Given the description of an element on the screen output the (x, y) to click on. 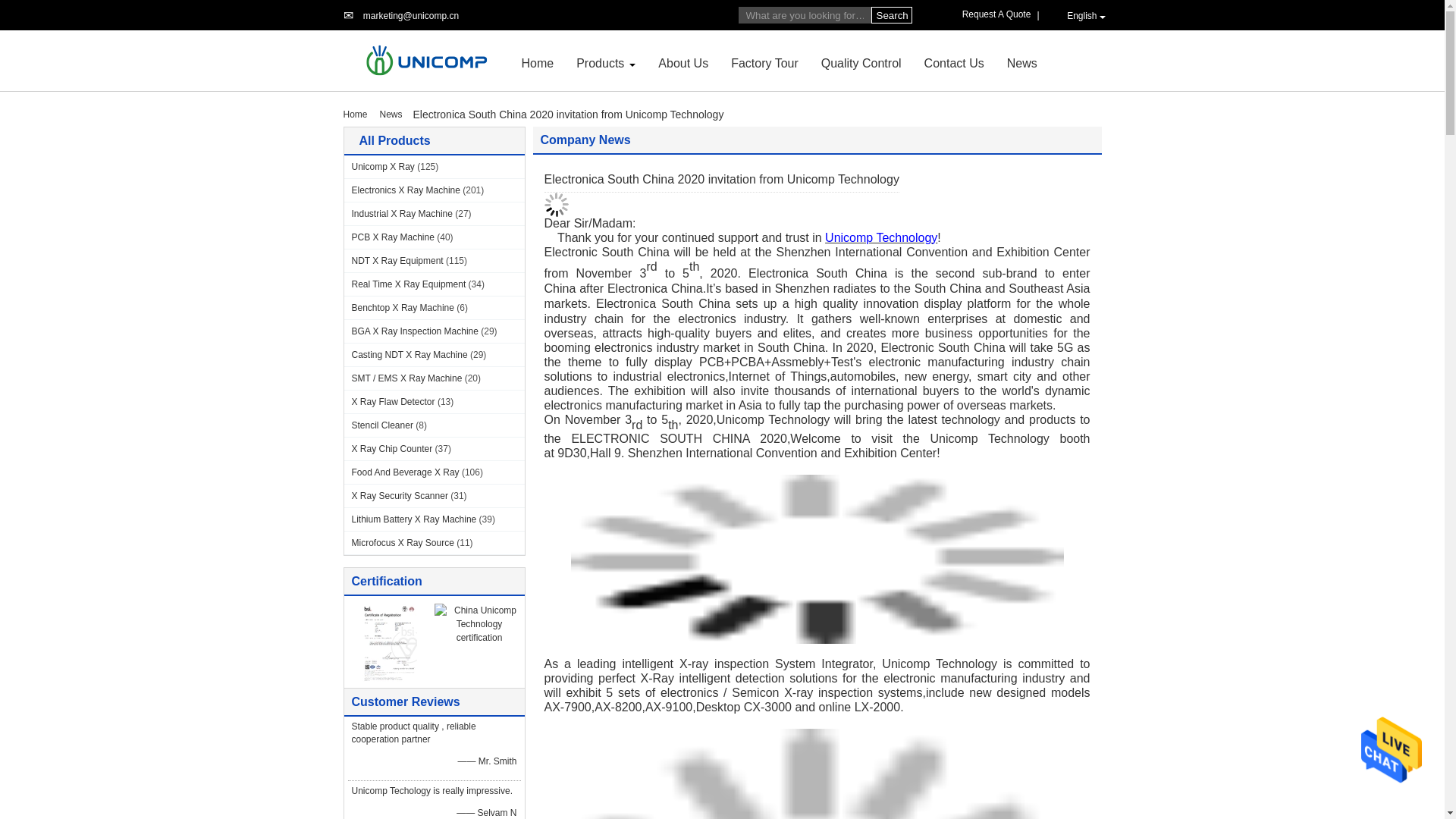
Request A Quote (999, 14)
Search (890, 14)
Home (537, 62)
English (1078, 15)
Products (600, 62)
Unicomp Technology (410, 15)
